Given the description of an element on the screen output the (x, y) to click on. 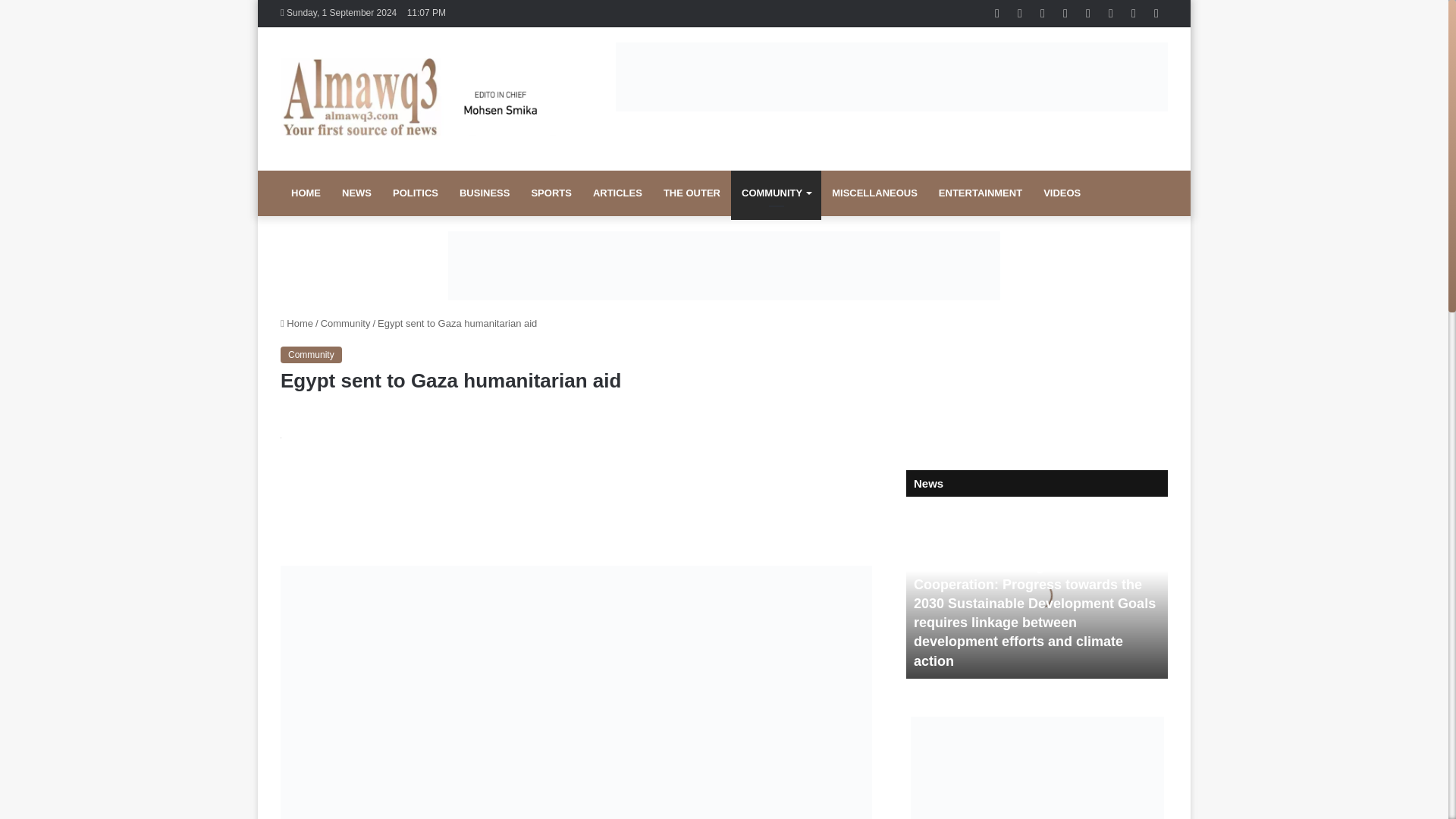
MISCELLANEOUS (874, 193)
ENTERTAINMENT (980, 193)
Community (311, 354)
COMMUNITY (775, 193)
Home (297, 323)
ARTICLES (617, 193)
THE OUTER (691, 193)
Community (345, 323)
VIDEOS (1061, 193)
NEWS (356, 193)
